Given the description of an element on the screen output the (x, y) to click on. 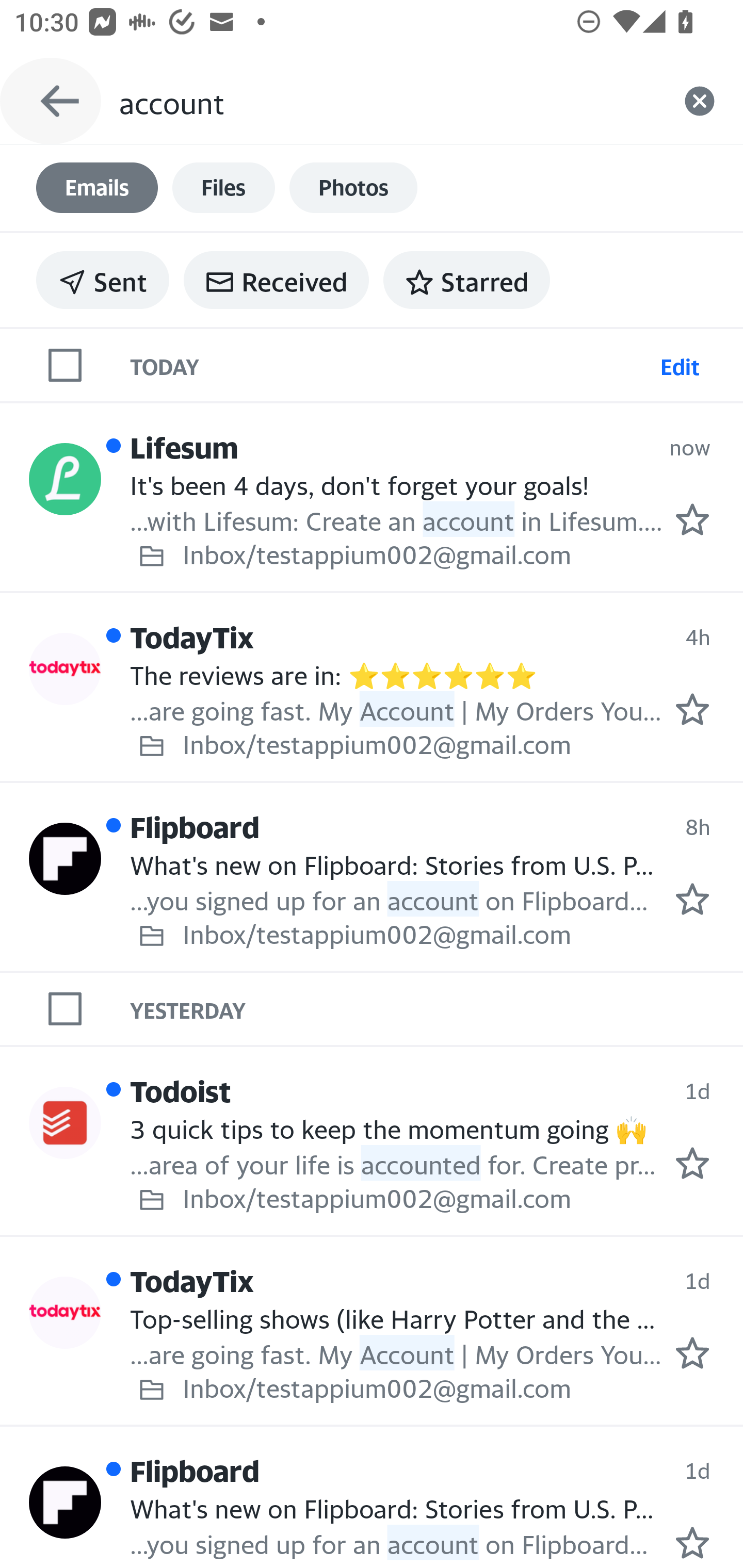
Back (50, 101)
account (387, 101)
Clear (699, 101)
Emails (96, 188)
Files (223, 188)
Photos (353, 188)
Sent (102, 279)
Received (276, 279)
Starred (466, 279)
TODAY (391, 364)
Edit Select emails (679, 364)
Profile
Lifesum (64, 479)
Mark as starred. (692, 519)
Profile
TodayTix (64, 669)
Mark as starred. (692, 709)
Profile
Flipboard (64, 859)
Mark as starred. (692, 899)
YESTERDAY (436, 1008)
Profile
Todoist (64, 1122)
Mark as starred. (692, 1162)
Profile
TodayTix (64, 1312)
Mark as starred. (692, 1352)
Profile
Flipboard (64, 1502)
Mark as starred. (692, 1542)
